Given the description of an element on the screen output the (x, y) to click on. 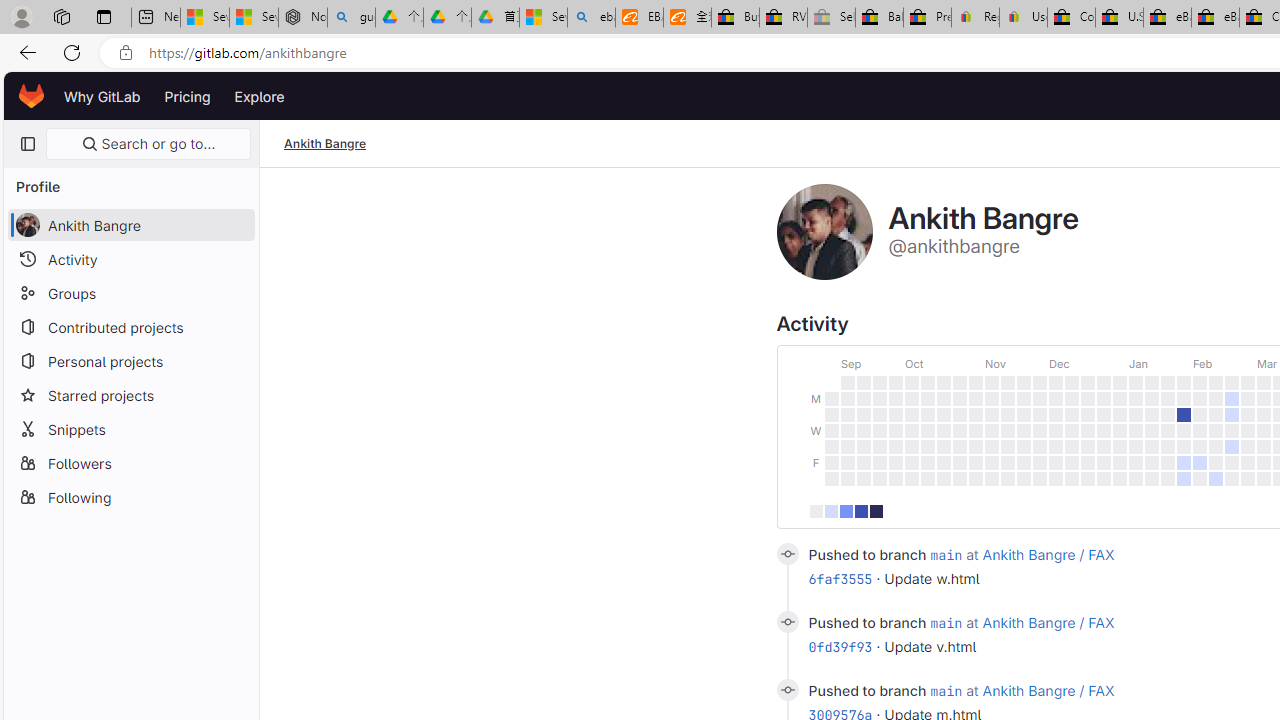
Homepage (31, 95)
10-19 contributions (845, 510)
Starred projects (130, 394)
